Given the description of an element on the screen output the (x, y) to click on. 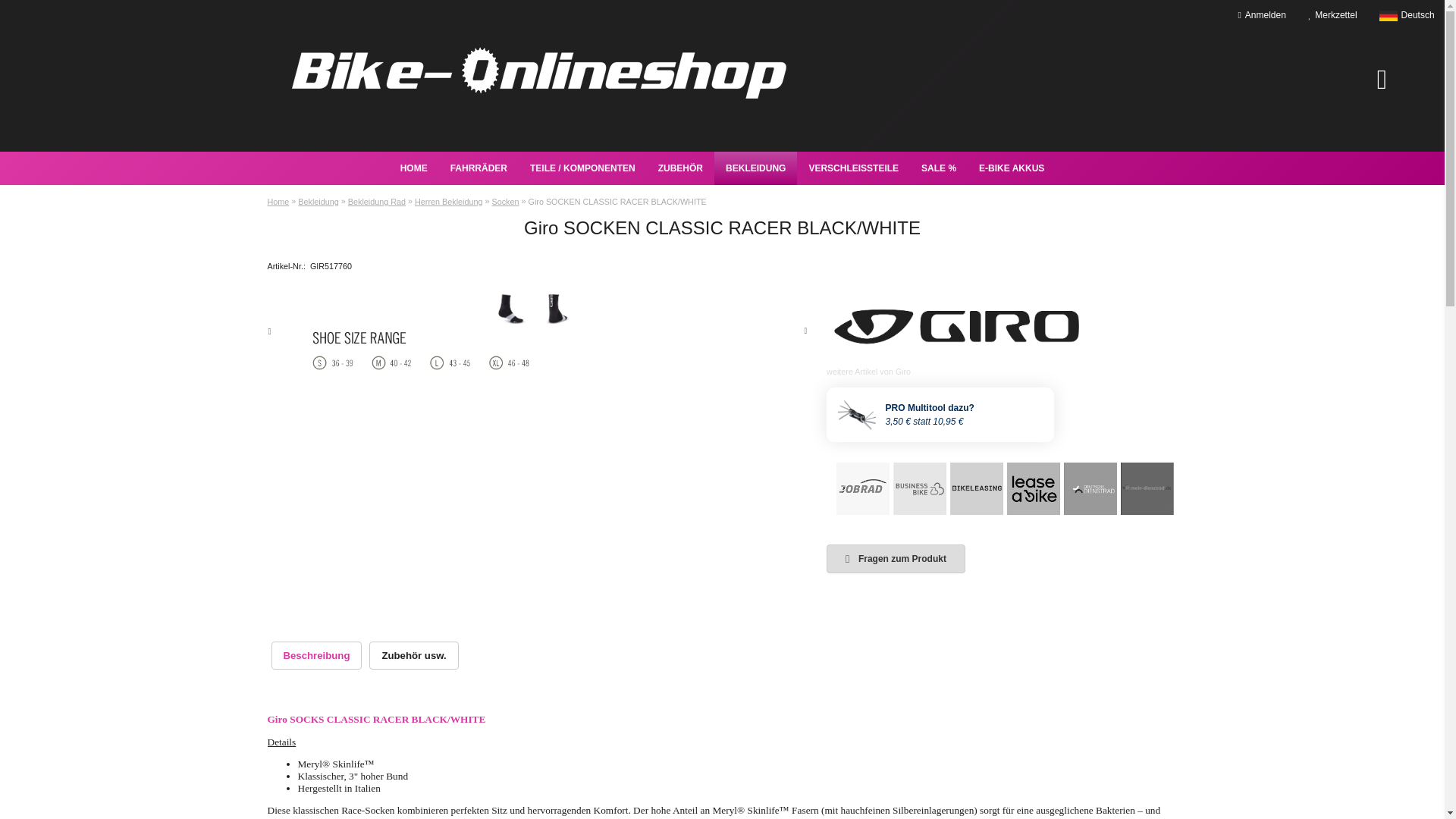
Anmelden (1262, 14)
Home (413, 168)
Login und Registrierung (1262, 14)
Zu Ihrem Merkzettel (1331, 14)
Merkzettel (1331, 14)
HOME (413, 168)
